Given the description of an element on the screen output the (x, y) to click on. 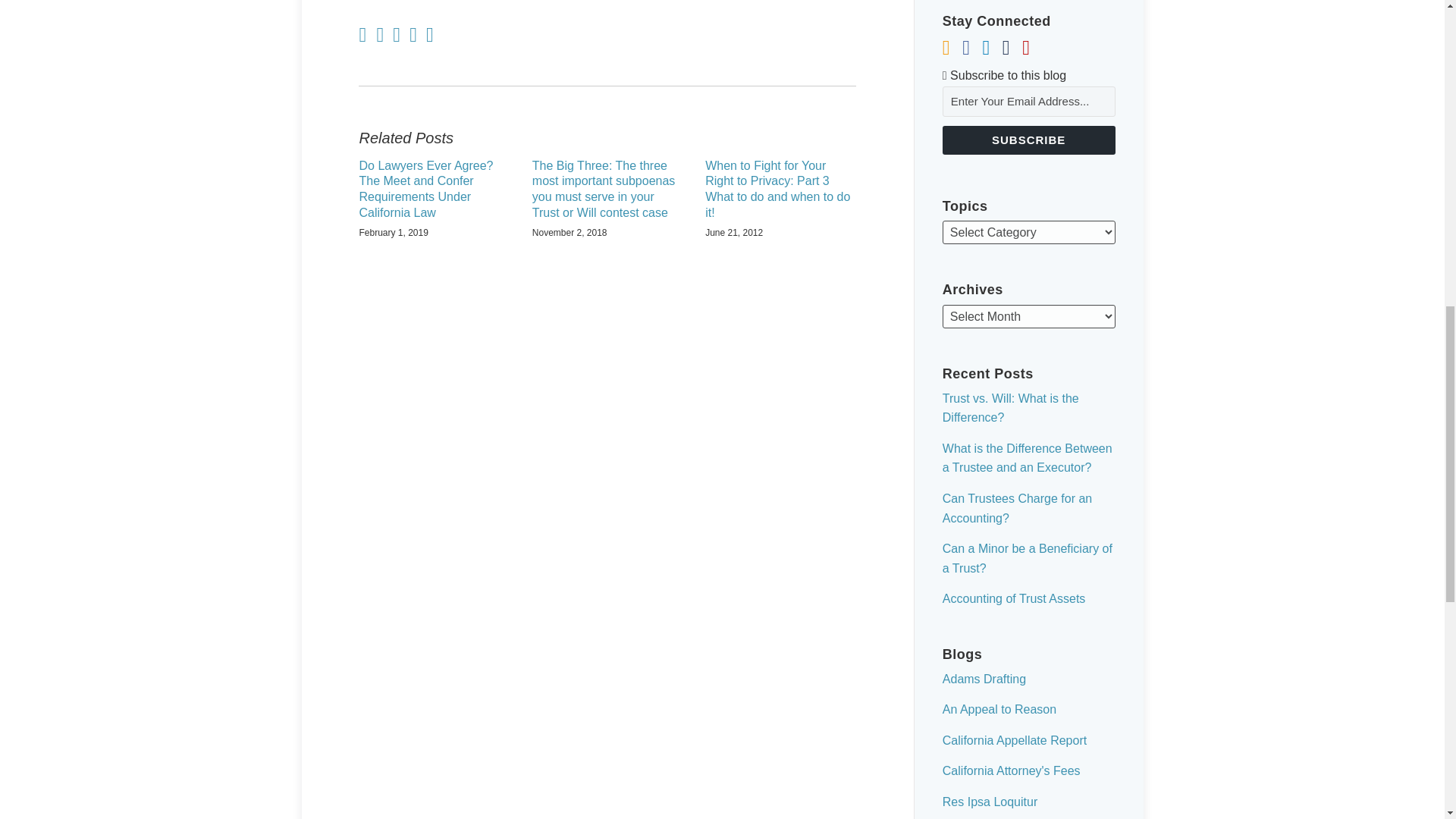
Trust vs. Will: What is the Difference? (1010, 408)
What is the Difference Between a Trustee and an Executor? (1027, 458)
Subscribe (1028, 140)
Can a Minor be a Beneficiary of a Trust? (1027, 558)
Can Trustees Charge for an Accounting? (1017, 508)
Subscribe (1028, 140)
Accounting of Trust Assets (1014, 598)
